Given the description of an element on the screen output the (x, y) to click on. 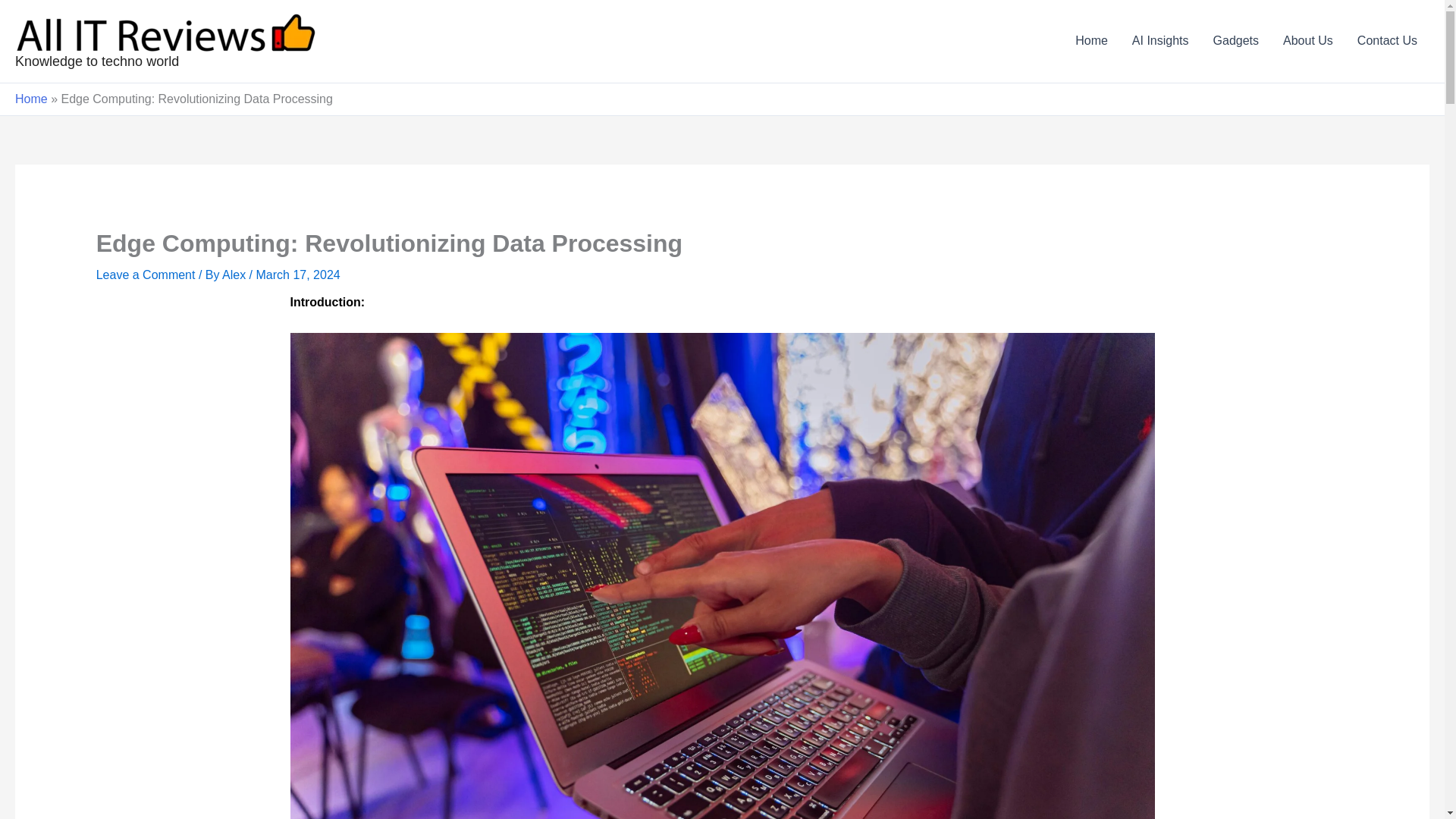
Knowledge to techno world (96, 61)
Contact Us (1387, 40)
AI Insights (1160, 40)
Leave a Comment (145, 274)
Home (31, 98)
Alex (235, 274)
View all posts by Alex (235, 274)
Home (1090, 40)
Gadgets (1236, 40)
About Us (1308, 40)
